Given the description of an element on the screen output the (x, y) to click on. 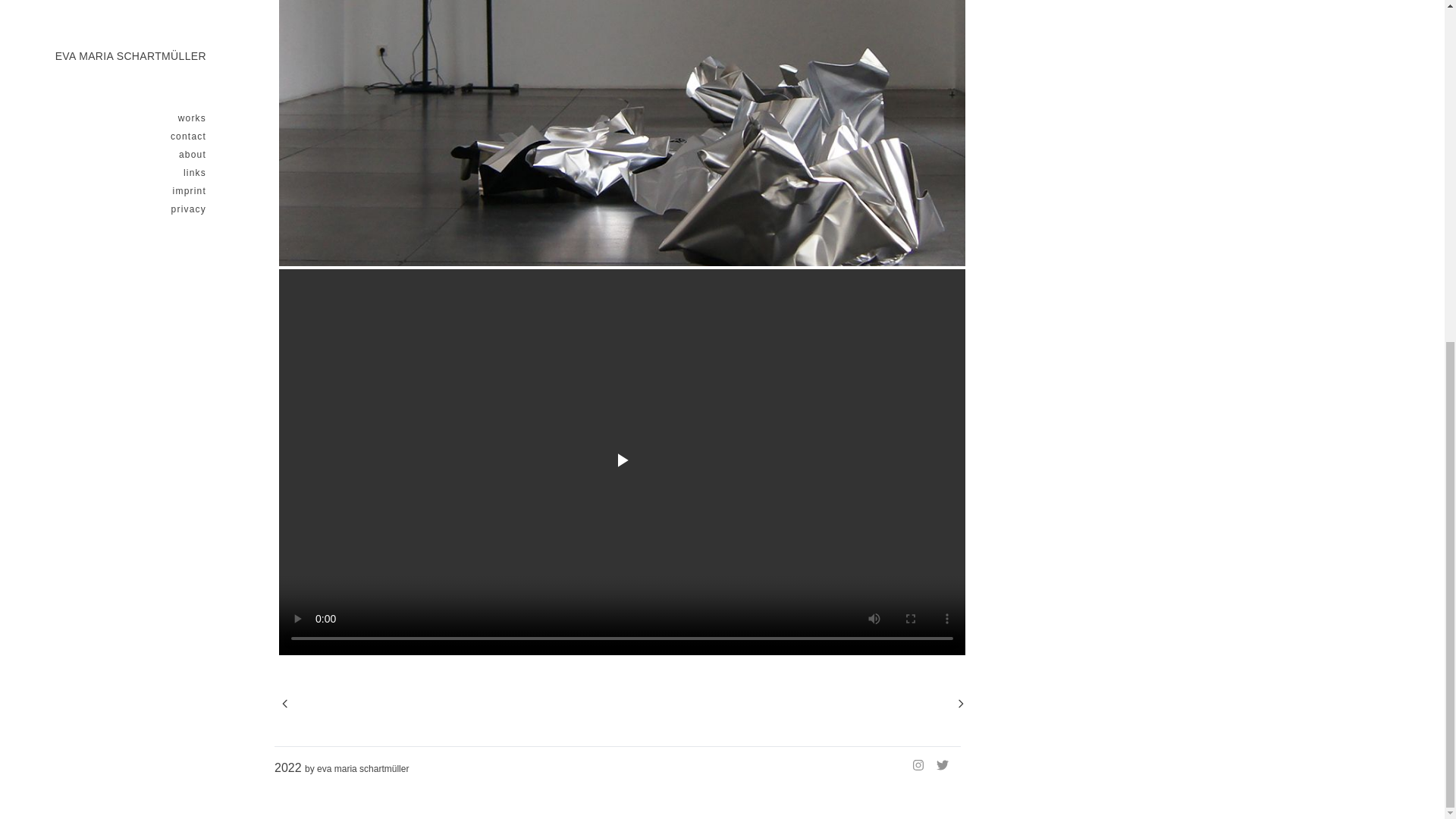
Play Video (622, 461)
Play Video (622, 461)
